Given the description of an element on the screen output the (x, y) to click on. 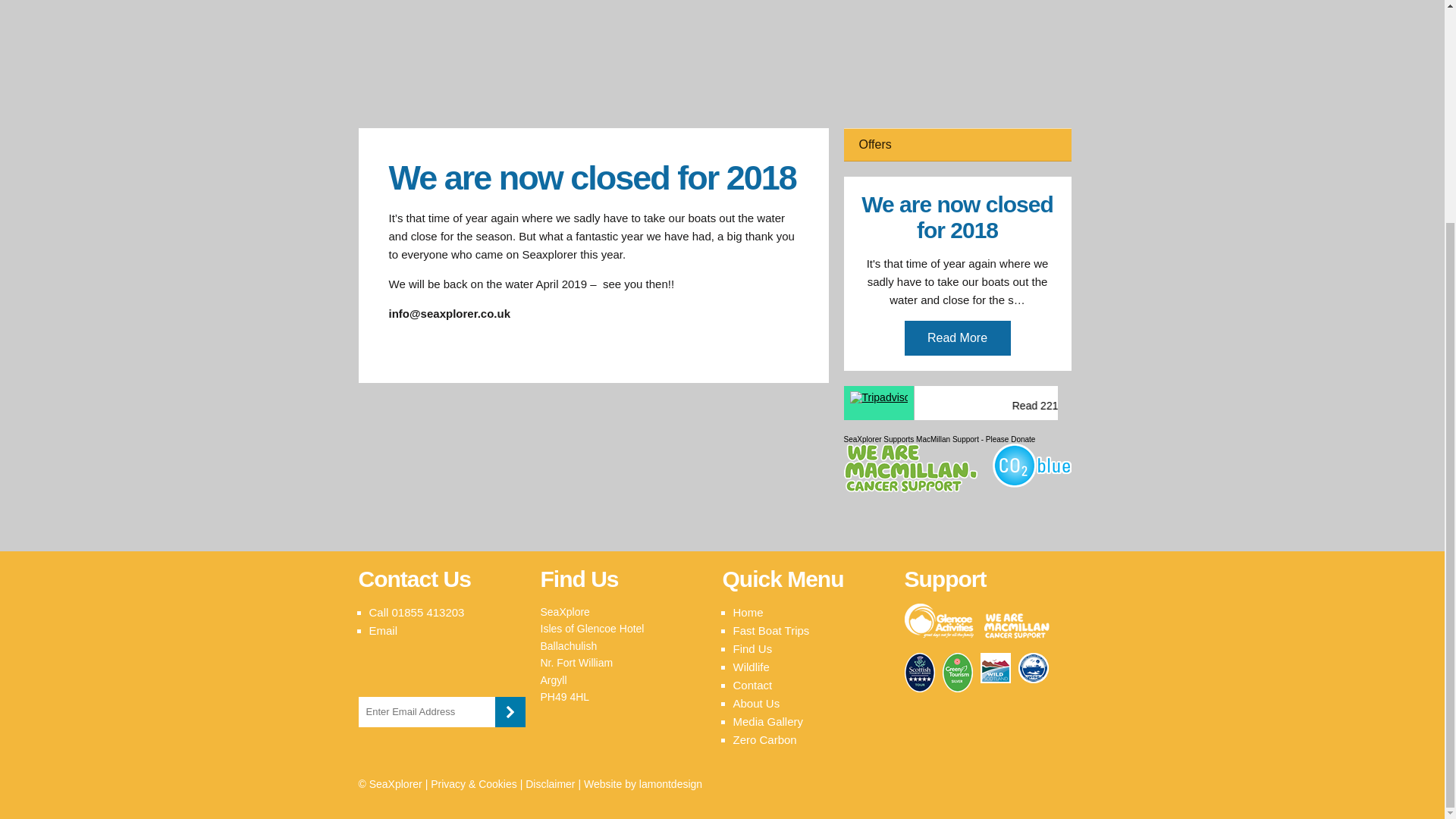
Offers (956, 144)
About Us (755, 703)
Disclaimer (550, 784)
Fast Boat Trips (770, 630)
Home (747, 612)
Contact (751, 684)
Find Us (751, 648)
Zero Carbon (764, 739)
Wildlife (750, 666)
Media Gallery (767, 721)
